Given the description of an element on the screen output the (x, y) to click on. 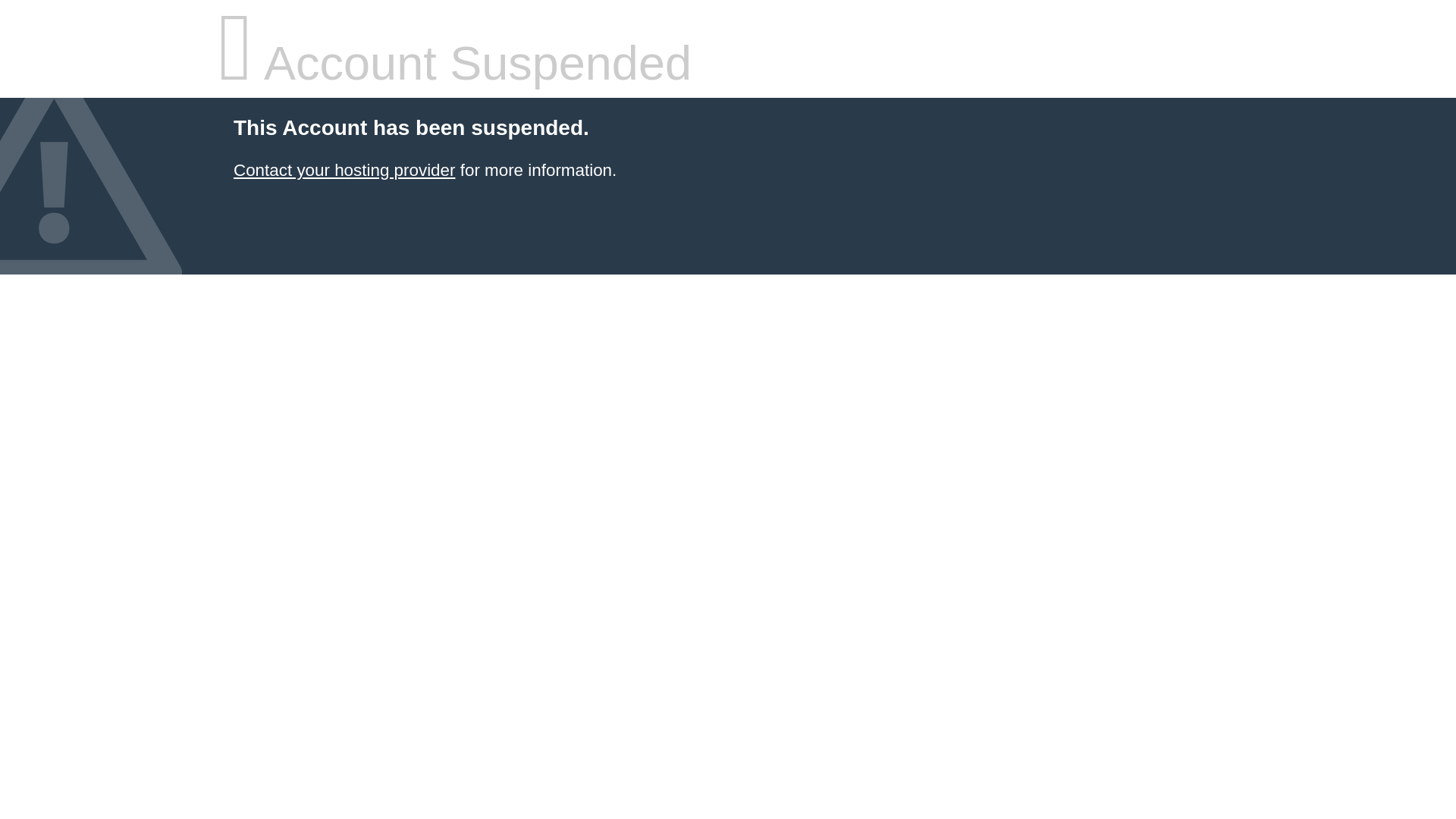
Contact your hosting provider (343, 169)
